Given the description of an element on the screen output the (x, y) to click on. 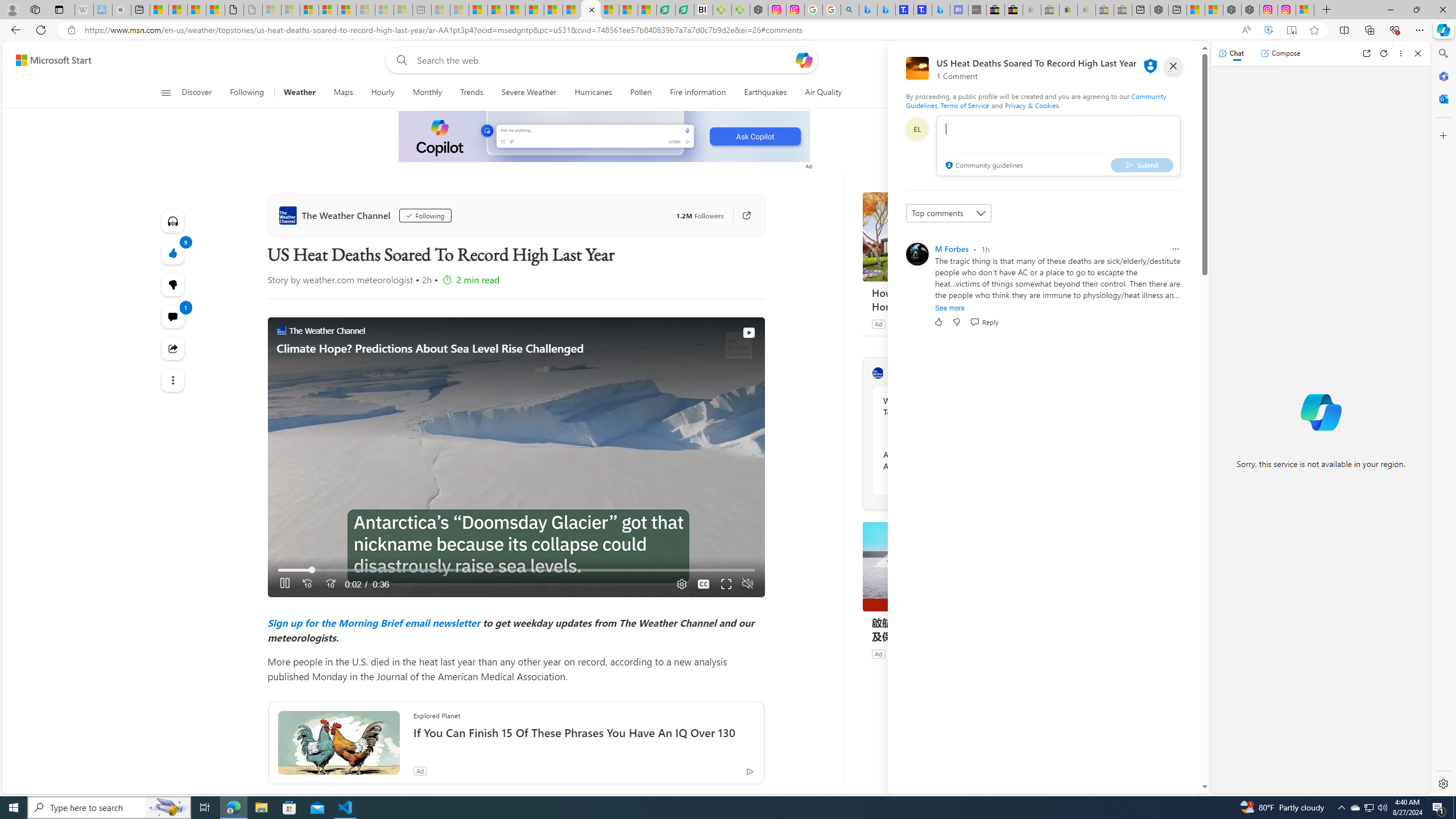
Enhance video (1268, 29)
Fire information (698, 92)
Food and Drink - MSN (497, 9)
Submit (1141, 164)
Alaska Landslide Kills 1 Person And Injures 3 in Ketchikan (944, 459)
Fire information (697, 92)
Community Guidelines (1035, 100)
Microsoft Bing Travel - Flights from Hong Kong to Bangkok (868, 9)
